Given the description of an element on the screen output the (x, y) to click on. 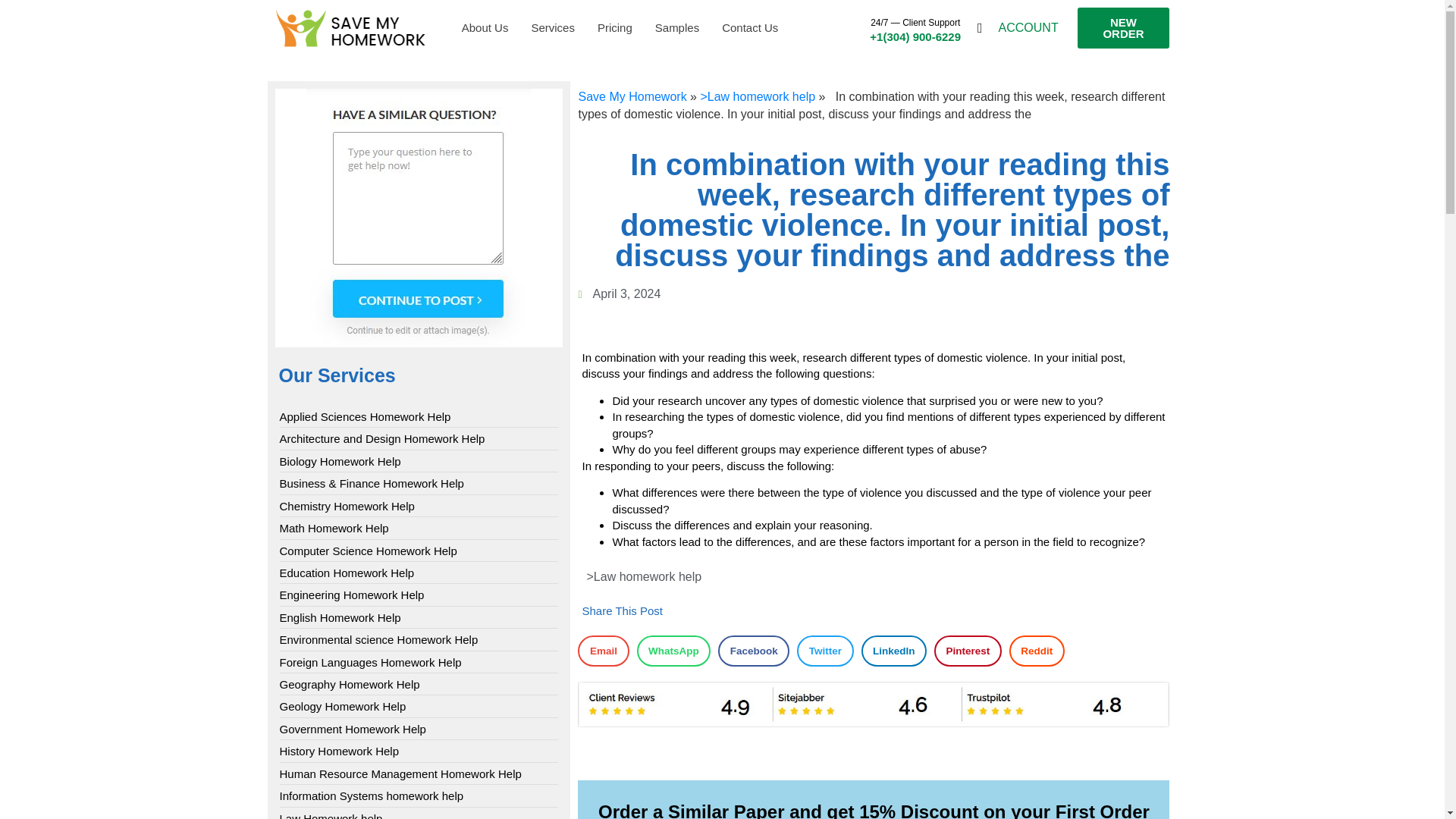
Architecture and Design Homework Help (381, 438)
Services (552, 27)
Engineering Homework Help (351, 594)
Education Homework Help (346, 572)
Samples (676, 27)
Pricing (614, 27)
English Homework Help (339, 617)
Government Homework Help (352, 729)
History Homework Help (338, 750)
Geography Homework Help (349, 684)
Math Homework Help (333, 528)
Applied Sciences Homework Help (364, 416)
Foreign Languages Homework Help (370, 662)
Law Homework help (330, 814)
Biology Homework Help (339, 461)
